Given the description of an element on the screen output the (x, y) to click on. 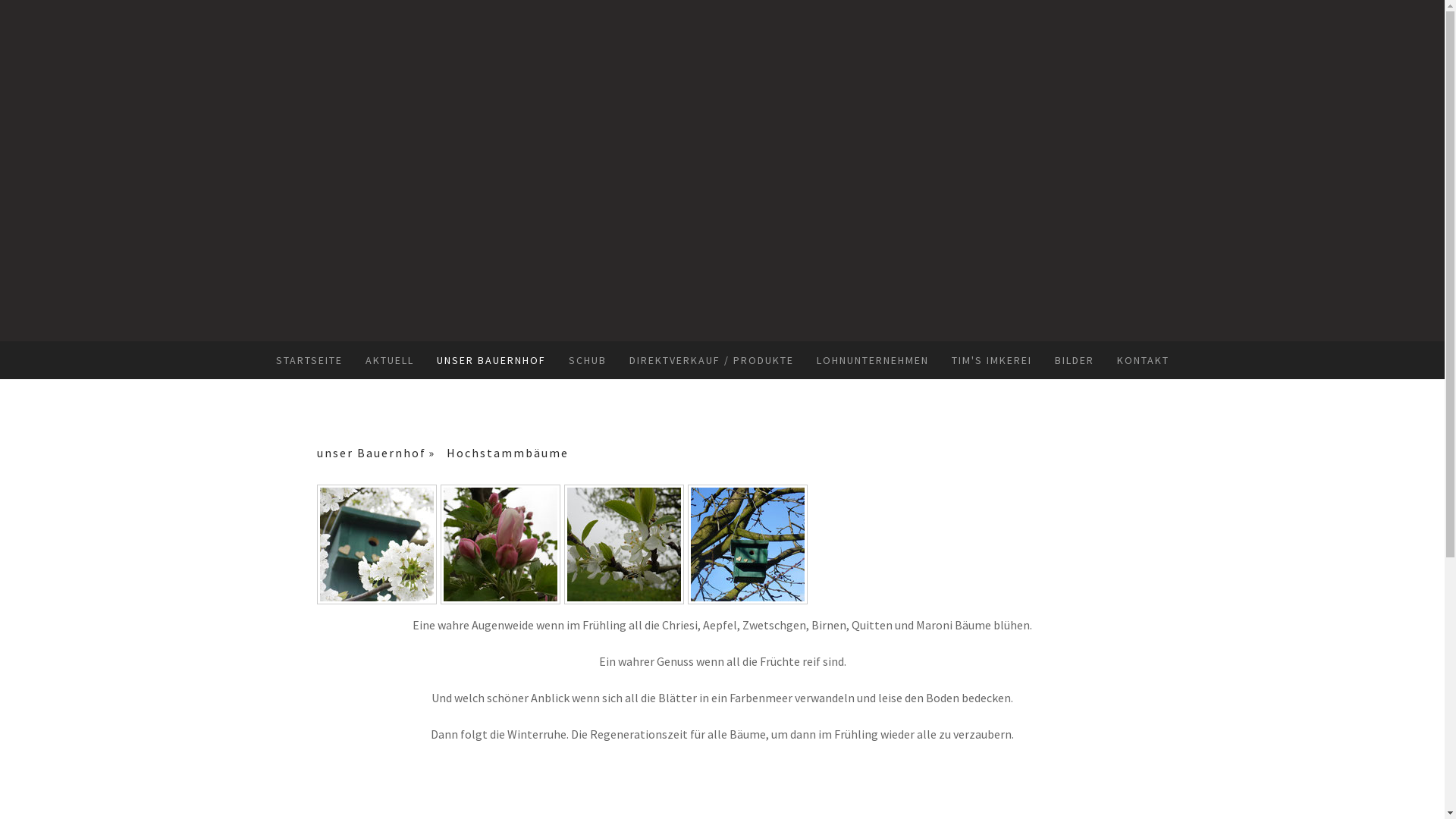
LOHNUNTERNEHMEN Element type: text (872, 360)
SCHUB Element type: text (586, 360)
DIREKTVERKAUF / PRODUKTE Element type: text (710, 360)
STARTSEITE Element type: text (308, 360)
unser Bauernhof Element type: text (381, 452)
KONTAKT Element type: text (1142, 360)
AKTUELL Element type: text (388, 360)
BILDER Element type: text (1074, 360)
UNSER BAUERNHOF Element type: text (490, 360)
TIM'S IMKEREI Element type: text (991, 360)
